Given the description of an element on the screen output the (x, y) to click on. 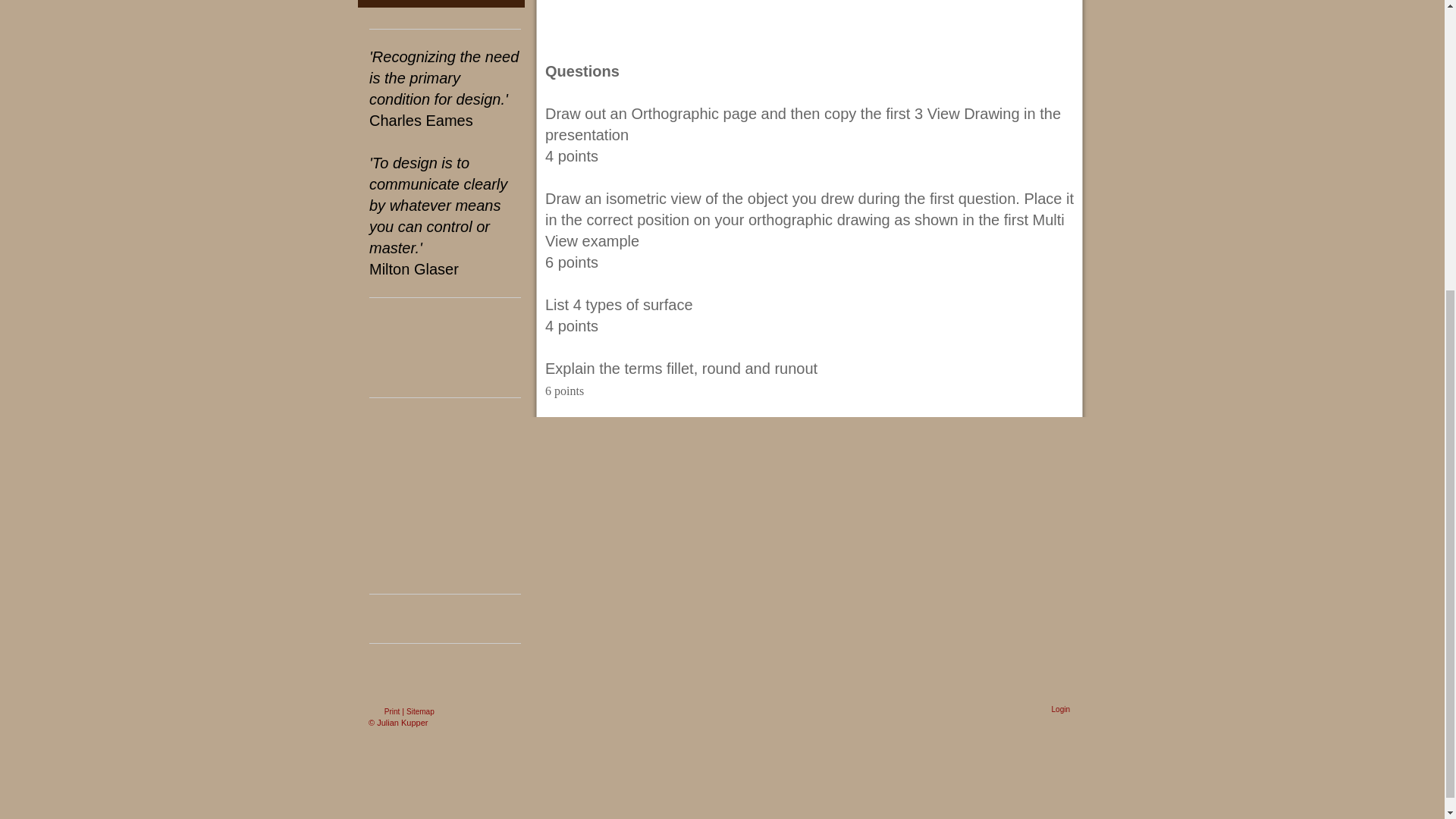
Sitemap (419, 707)
Print (384, 707)
Login (1060, 705)
